Given the description of an element on the screen output the (x, y) to click on. 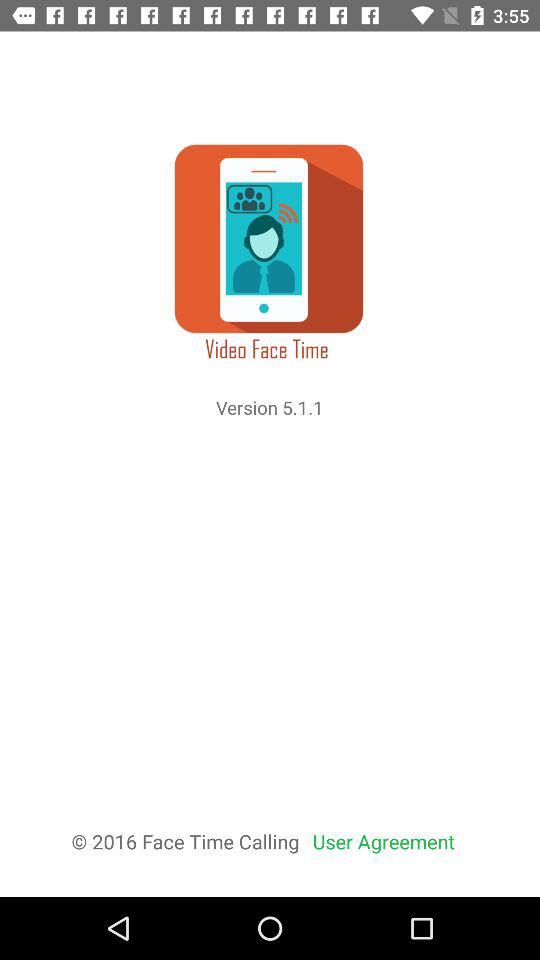
choose the item at the bottom right corner (383, 841)
